Given the description of an element on the screen output the (x, y) to click on. 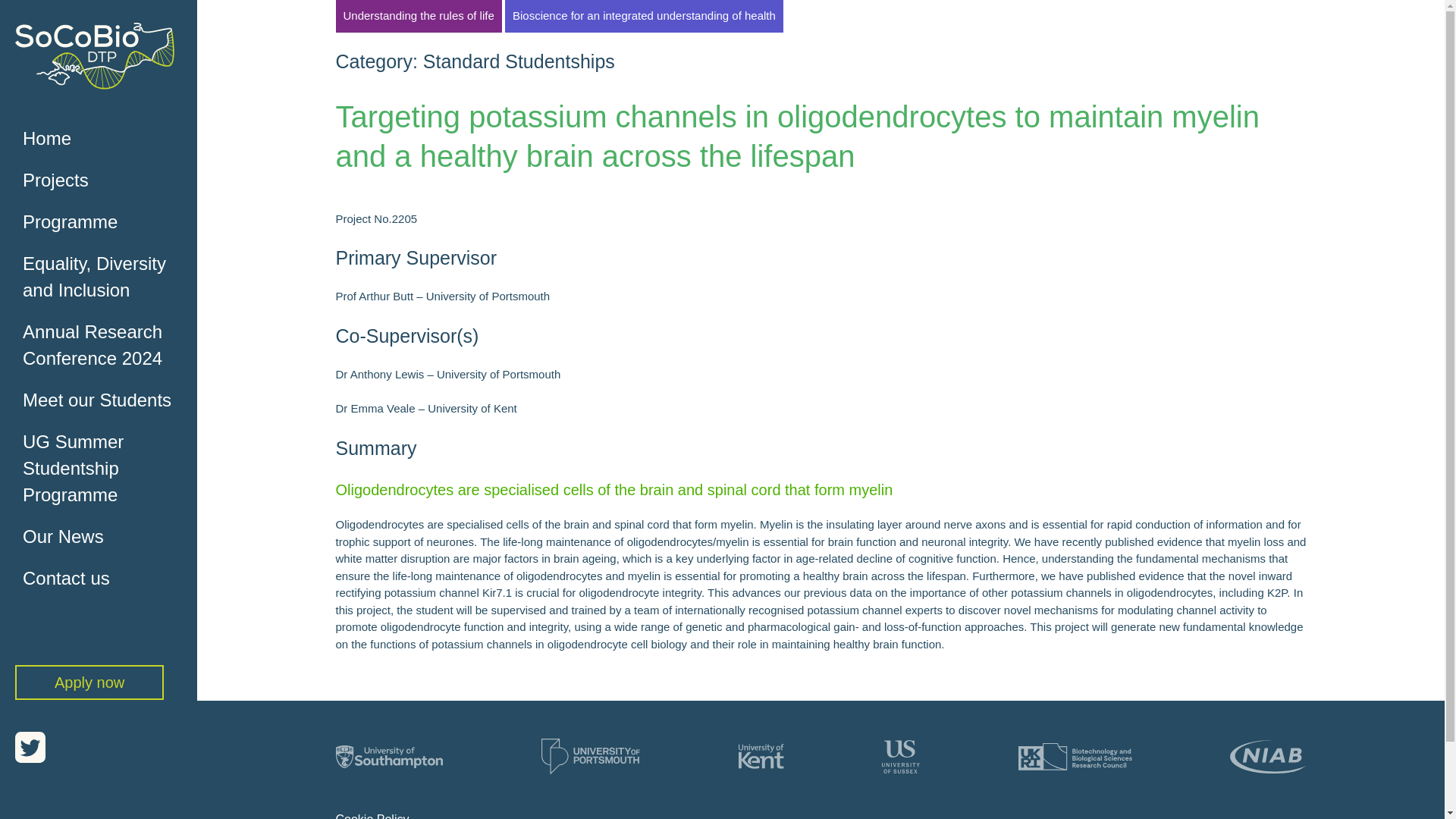
Equality, Diversity and Inclusion (105, 276)
Contact us (105, 577)
Cookie Policy (371, 816)
Meet our Students (105, 399)
Home (105, 137)
Apply now (88, 682)
Our News (105, 536)
Programme (105, 221)
Annual Research Conference 2024 (105, 345)
Projects (105, 179)
UG Summer Studentship Programme (105, 467)
